Given the description of an element on the screen output the (x, y) to click on. 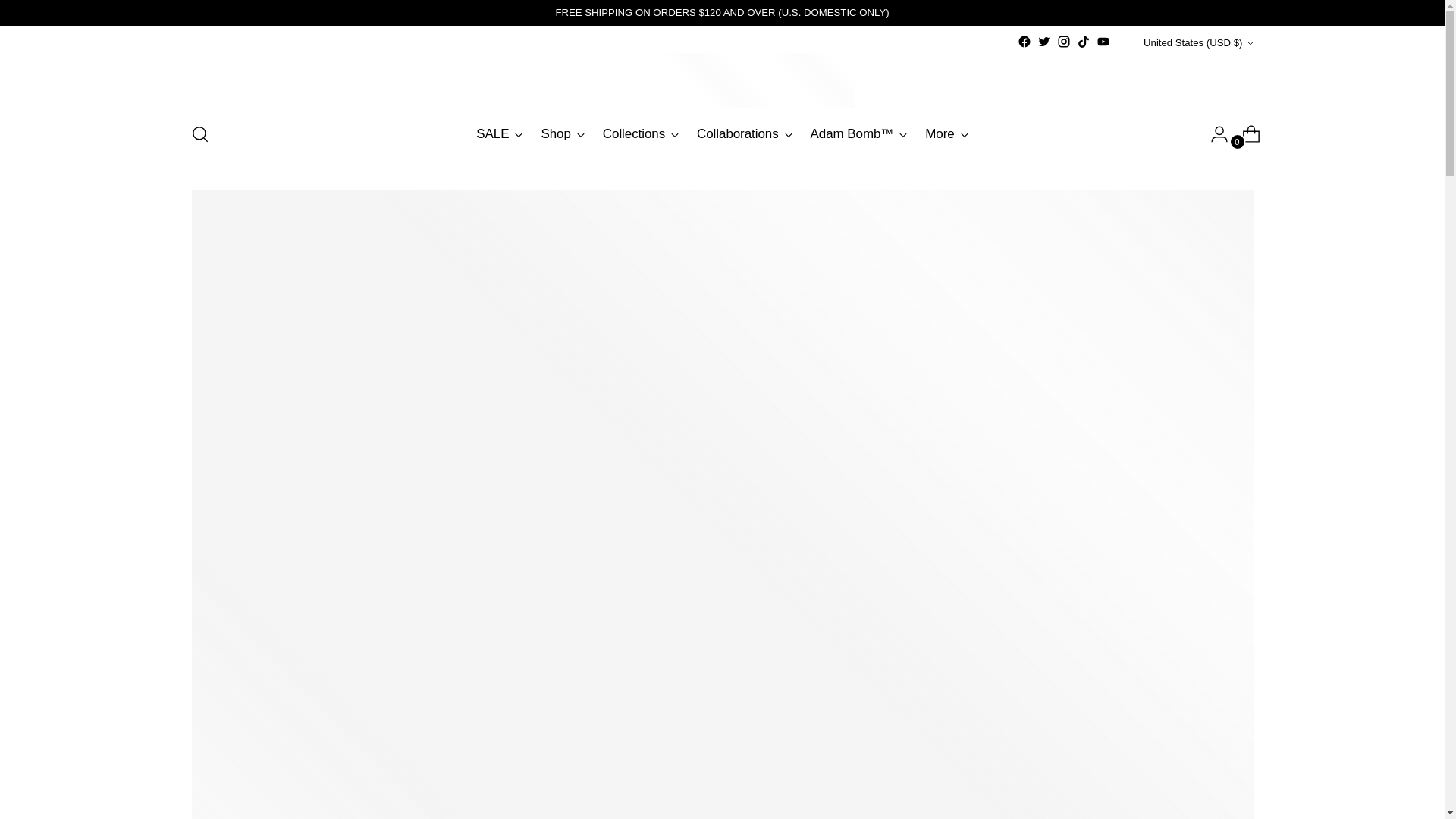
The Hundreds on YouTube (1102, 41)
The Hundreds on Instagram (1063, 41)
The Hundreds on Tiktok (1083, 41)
The Hundreds on Twitter (1043, 41)
The Hundreds on Facebook (1023, 41)
